Given the description of an element on the screen output the (x, y) to click on. 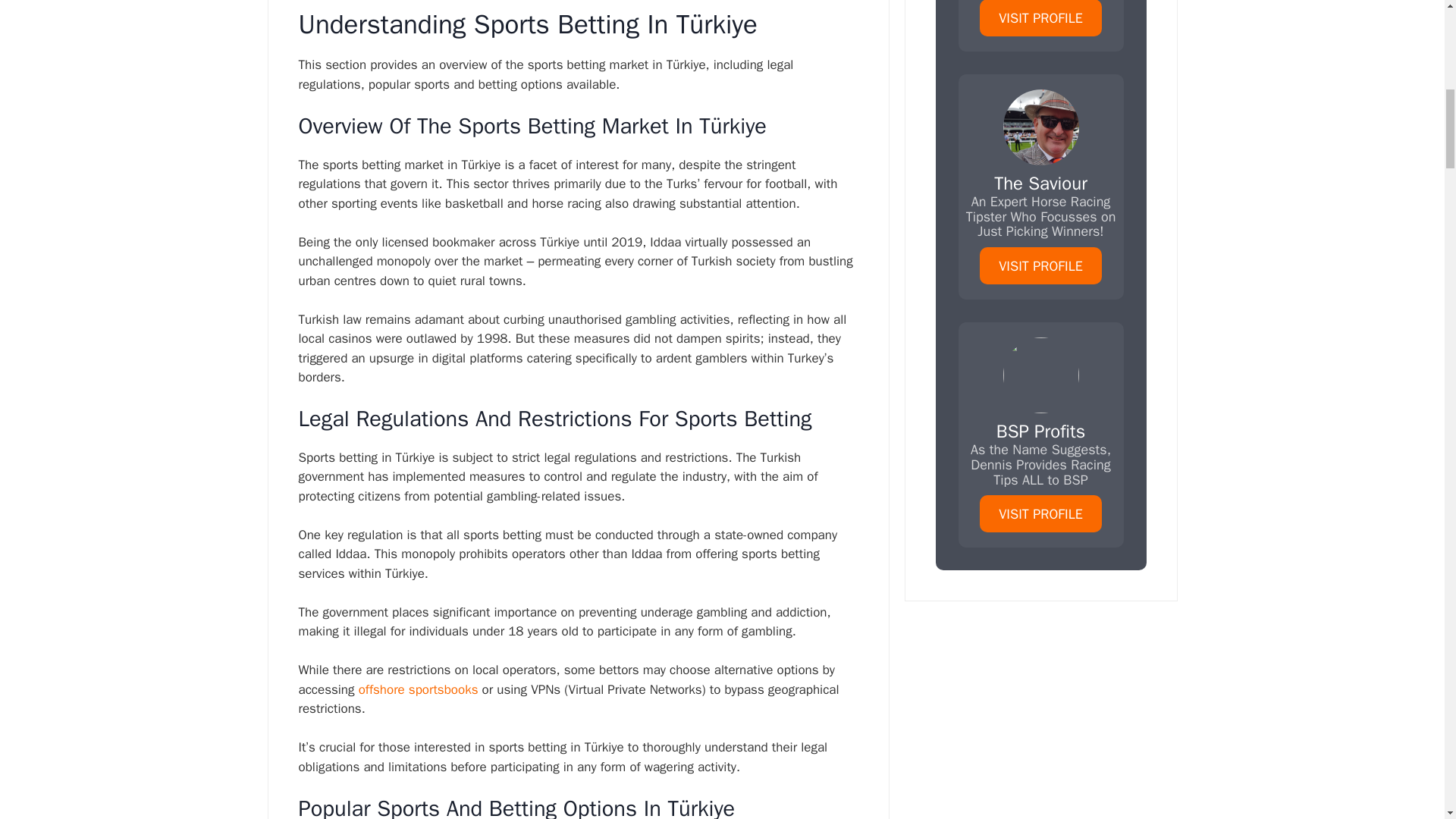
VISIT PROFILE (1039, 265)
offshore sportsbooks (418, 689)
VISIT PROFILE (1039, 513)
VISIT PROFILE (1039, 18)
